Given the description of an element on the screen output the (x, y) to click on. 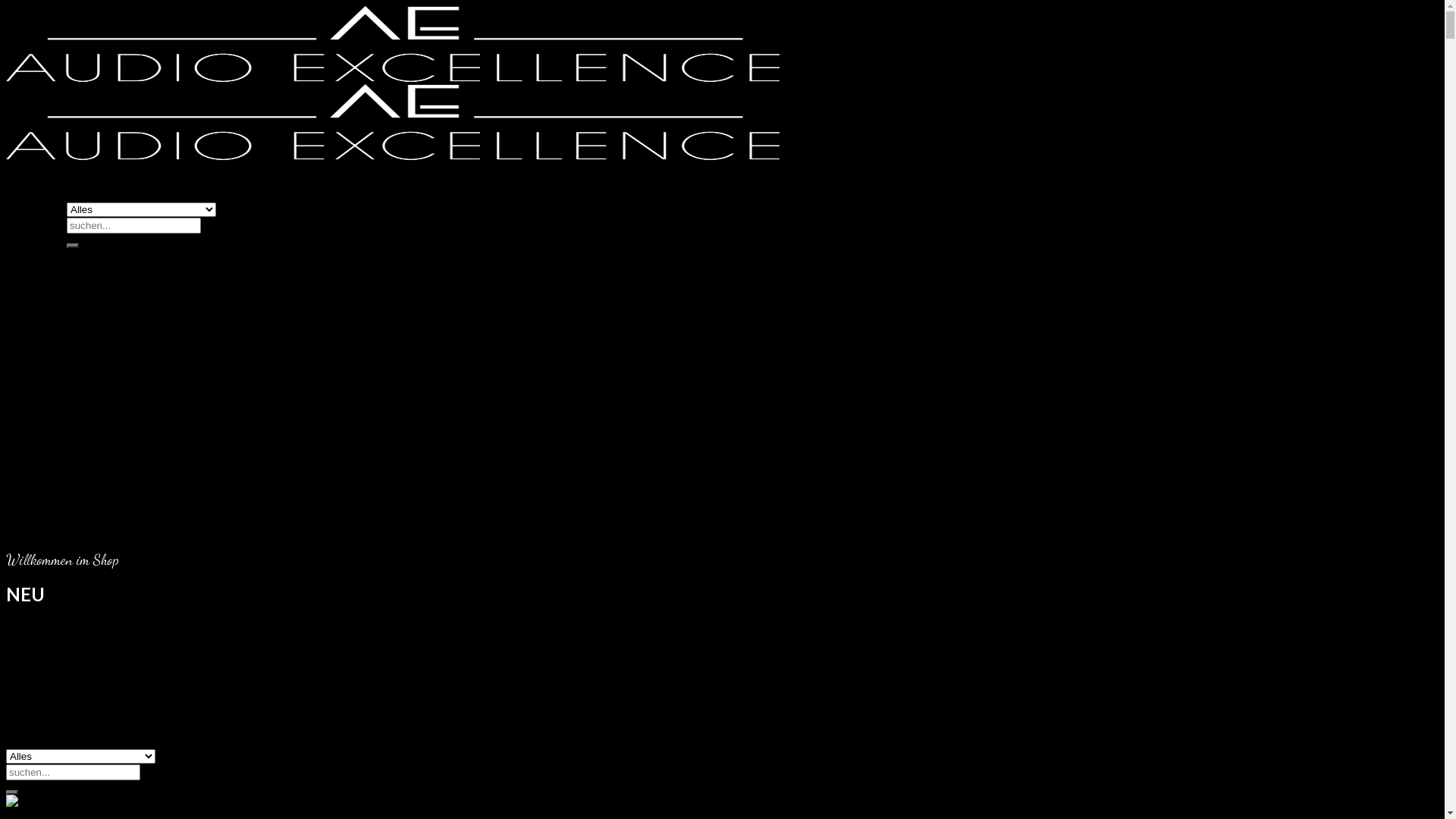
SHOP Element type: text (53, 254)
Marantz Element type: text (119, 586)
HOME Element type: text (55, 600)
The Gryphon Element type: text (100, 384)
Anmelden Element type: text (62, 699)
KONTAKT Element type: text (66, 672)
Bowers & Wilkins Element type: text (112, 327)
0 Element type: text (39, 781)
Audioquest Element type: text (126, 514)
MSB Element type: text (79, 427)
Furutech Element type: text (89, 370)
Magico Element type: text (86, 399)
Focal Element type: text (80, 355)
MARKEN Element type: text (61, 298)
Zum Inhalt springen Element type: text (5, 5)
Bassocontinuo Element type: text (135, 528)
Suche Element type: text (12, 792)
Naim Element type: text (80, 442)
Kef Element type: text (106, 557)
Gebraucht Element type: text (94, 283)
Tipps und Downloads Element type: text (122, 644)
Suche Element type: text (72, 245)
Harmonix Element type: text (123, 543)
Warenkorb / CHF 0.00 0 Element type: text (102, 728)
Neu Element type: text (77, 269)
WISSEN Element type: text (58, 615)
Sonus Faber Element type: text (98, 485)
McIntosh Element type: text (91, 413)
Shunyata Element type: text (89, 471)
WEITERE MARKEN Element type: text (120, 499)
Shop Audio Excellence Neu Element type: hover (392, 115)
Accuphase Element type: text (94, 312)
Piega Element type: text (81, 456)
IsoTek Element type: text (114, 571)
Kundenstimmen Element type: text (108, 658)
